Given the description of an element on the screen output the (x, y) to click on. 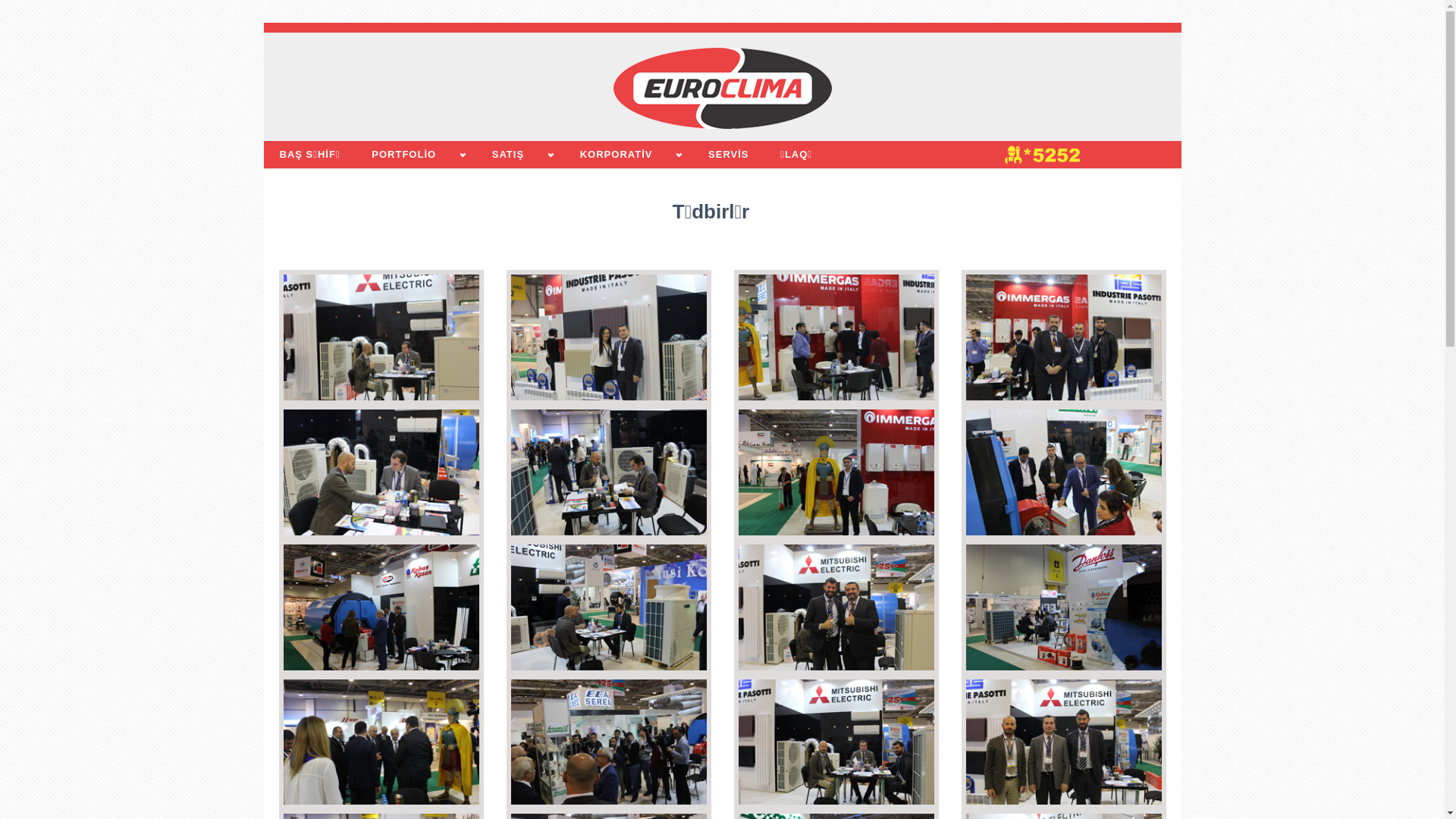
EUROCLIMA Element type: hover (721, 87)
EUROCLIMA Element type: hover (721, 87)
